Given the description of an element on the screen output the (x, y) to click on. 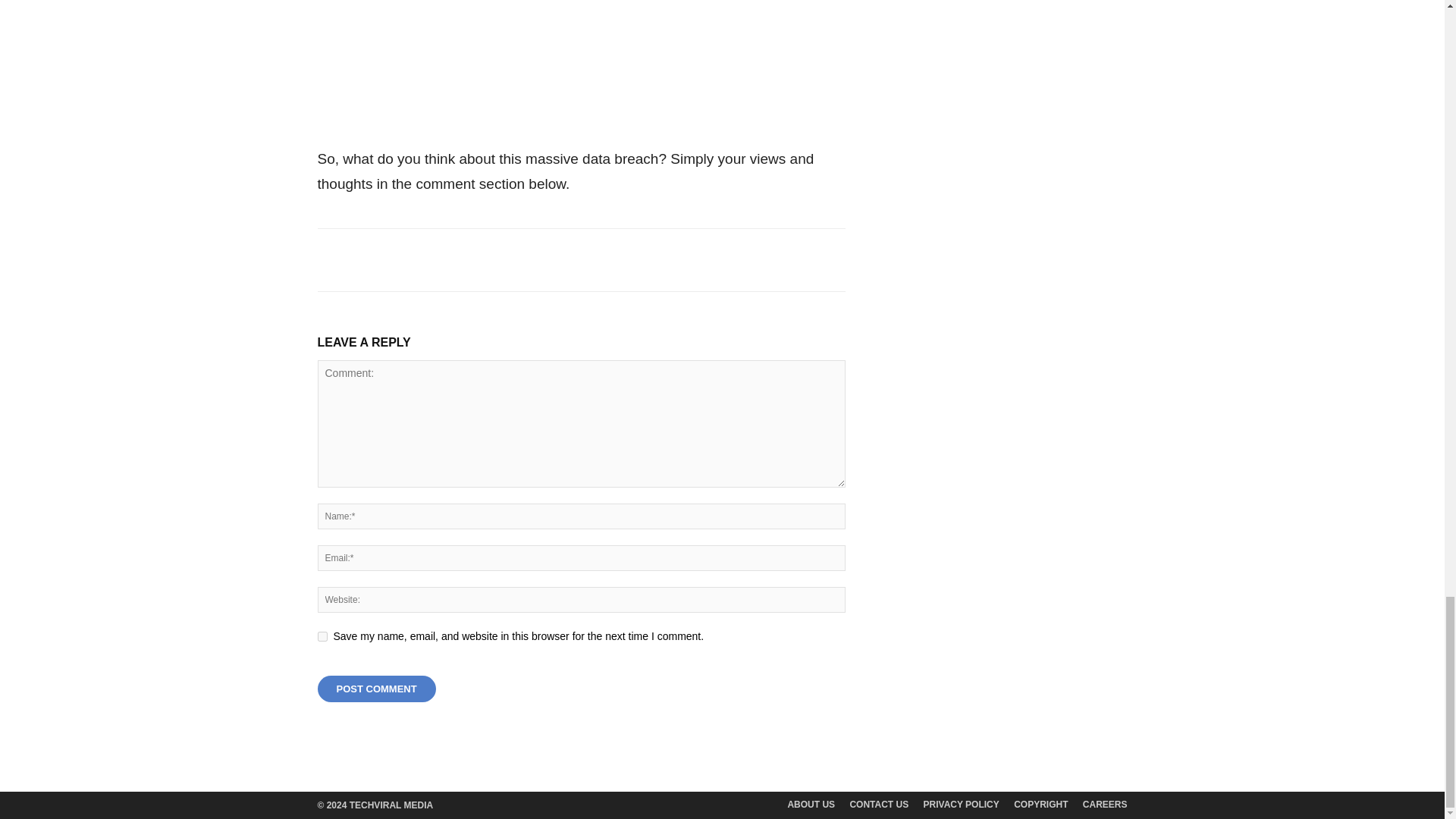
Post Comment (376, 688)
yes (321, 636)
Post Comment (376, 688)
